Given the description of an element on the screen output the (x, y) to click on. 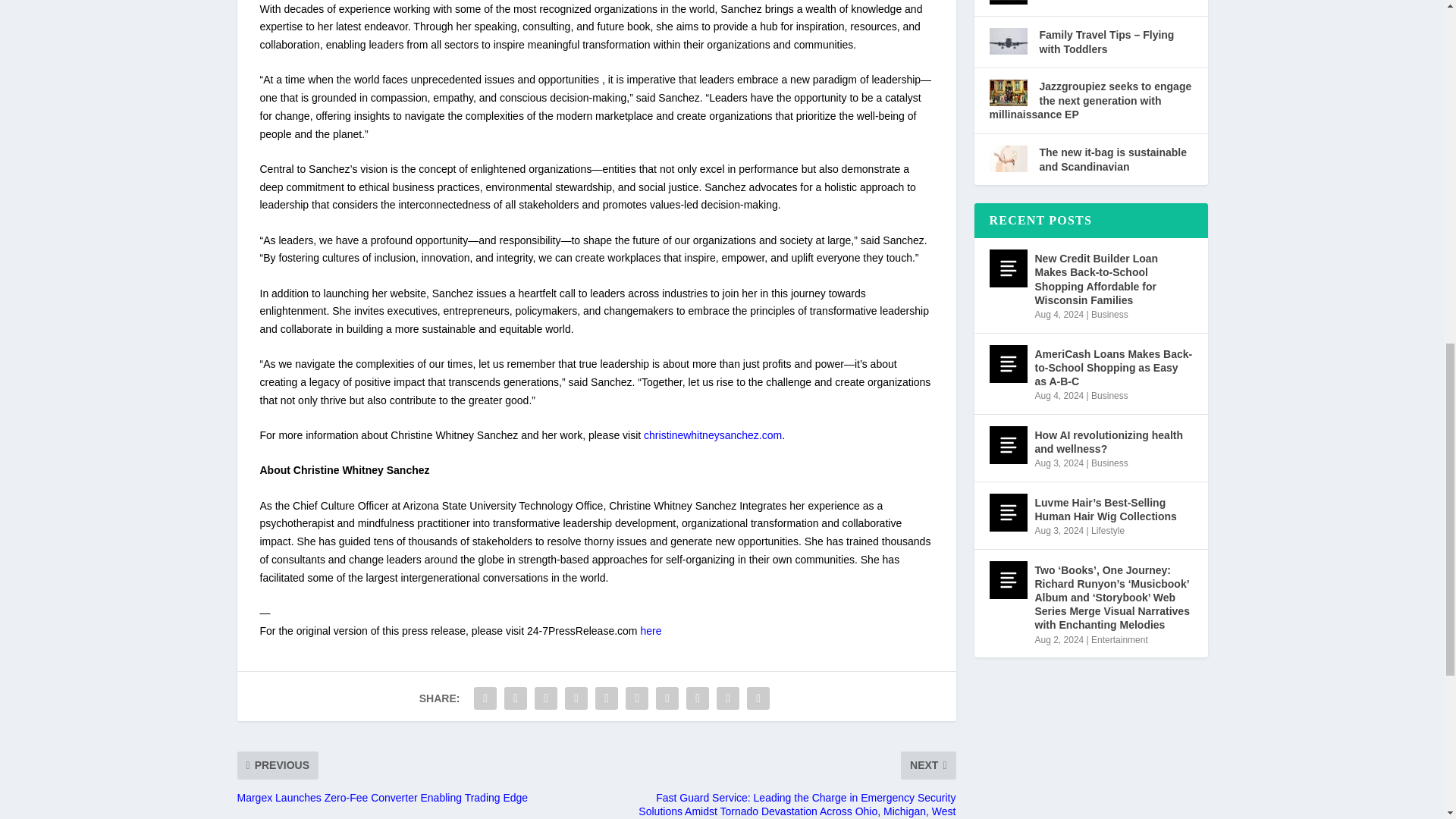
How AI revolutionizing health and wellness? (1007, 444)
christinewhitneysanchez.com (712, 435)
here (650, 630)
